Given the description of an element on the screen output the (x, y) to click on. 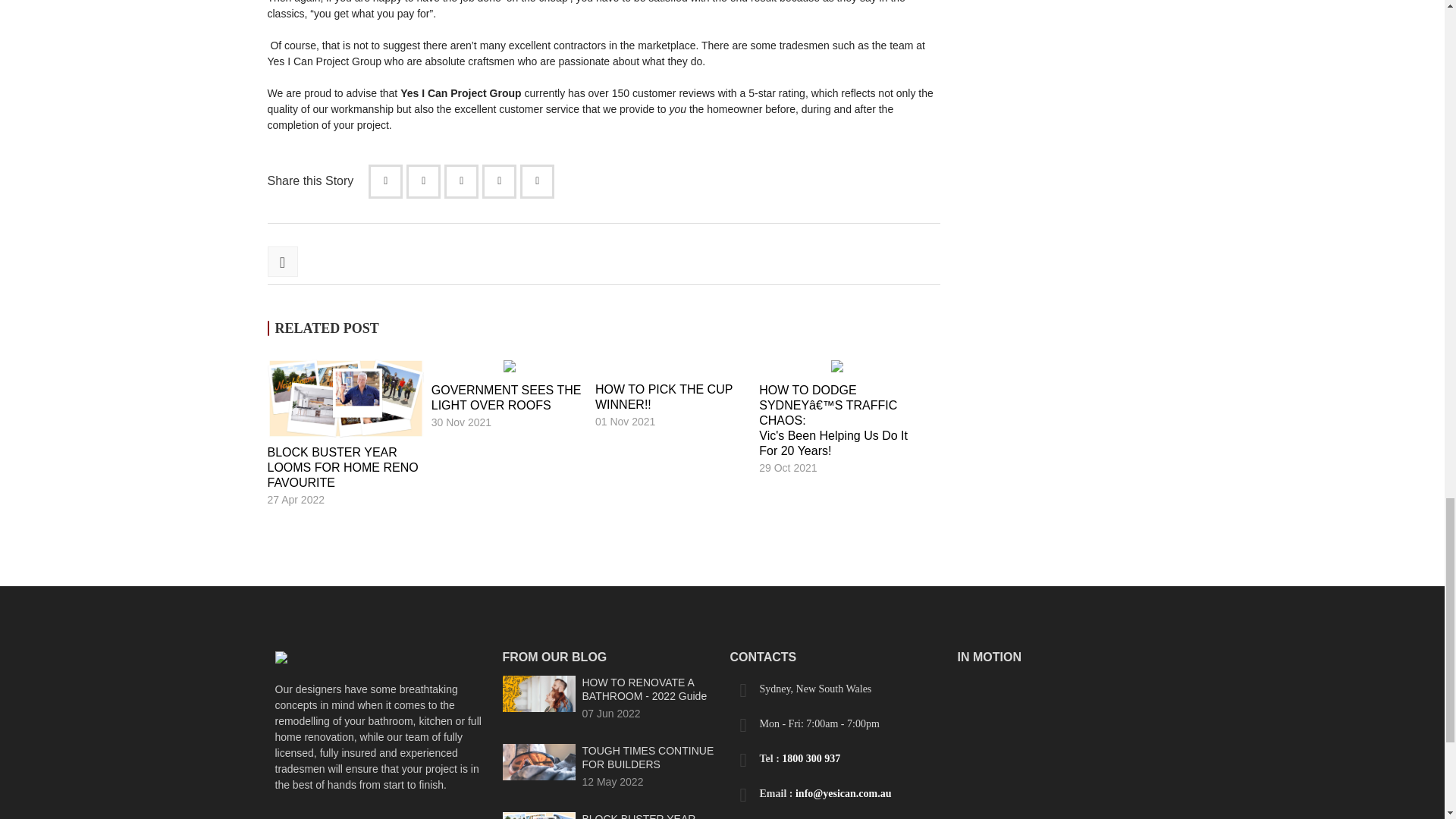
Tough times for builders (538, 760)
GOVERNMENT SEES THE LIGHT OVER ROOFS (505, 397)
BLOCK BUSTER YEAR LOOMS FOR HOME RENO FAVOURITE (341, 466)
Apply for home renovation show australia 2022 (344, 398)
HOW TO PICK THE CUP WINNER!! (663, 397)
